Given the description of an element on the screen output the (x, y) to click on. 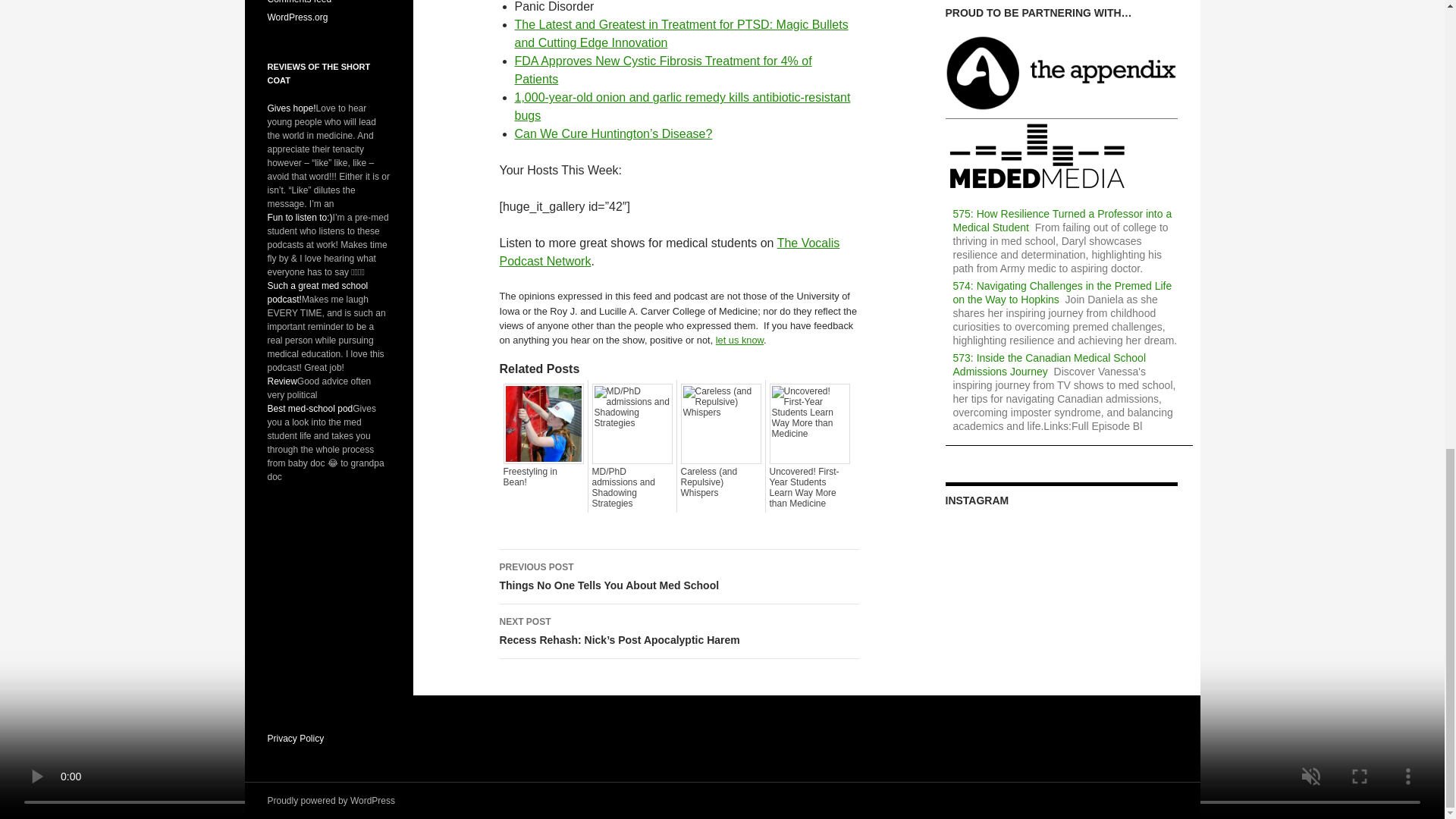
The Vocalis Podcast Network (669, 251)
Freestyling in Bean! (543, 476)
let us know (739, 339)
Talk to Us! (739, 339)
